Given the description of an element on the screen output the (x, y) to click on. 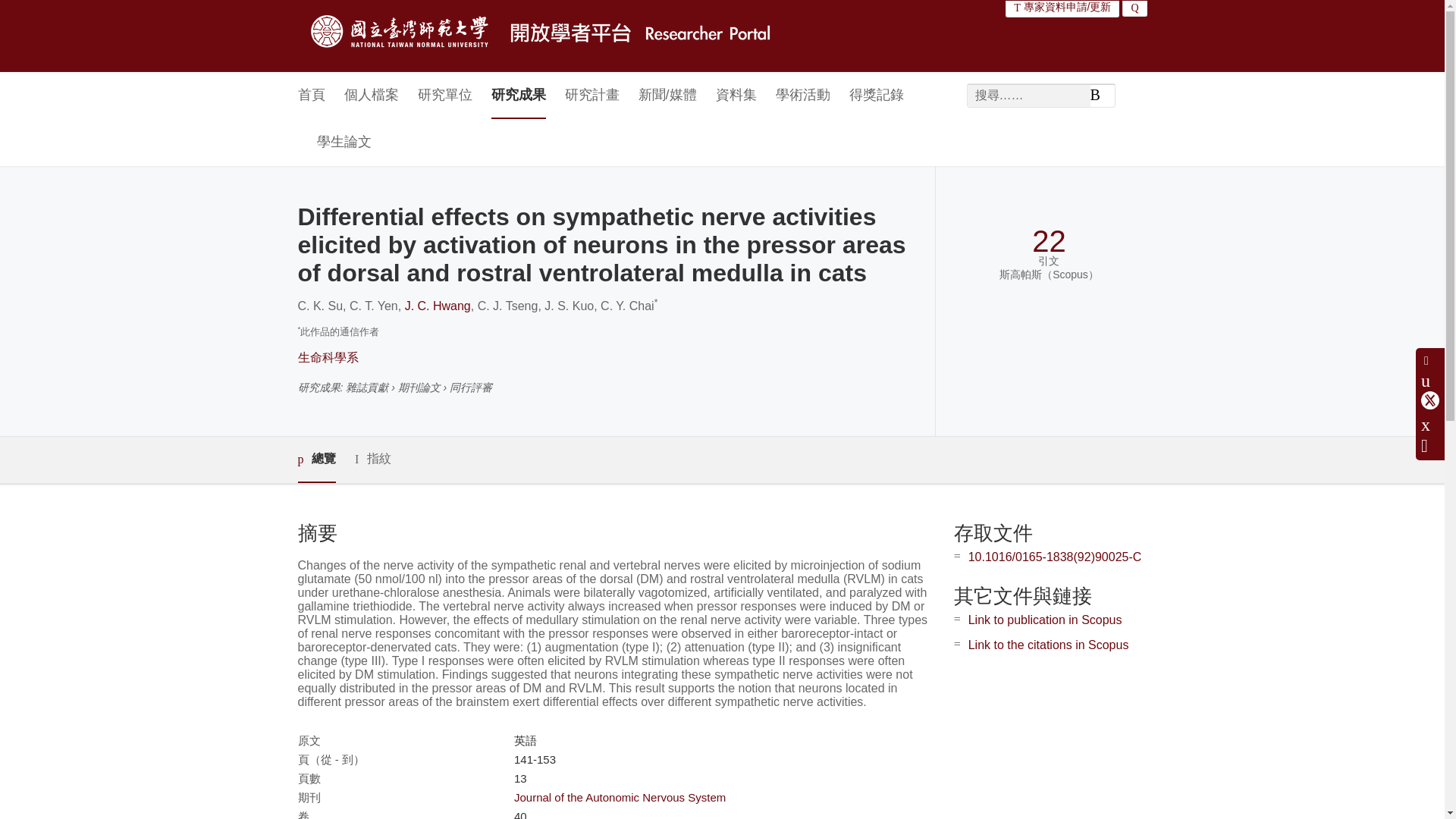
22 (1048, 241)
Journal of the Autonomic Nervous System (619, 797)
J. C. Hwang (437, 305)
Link to the citations in Scopus (1048, 644)
Link to publication in Scopus (1045, 619)
